Given the description of an element on the screen output the (x, y) to click on. 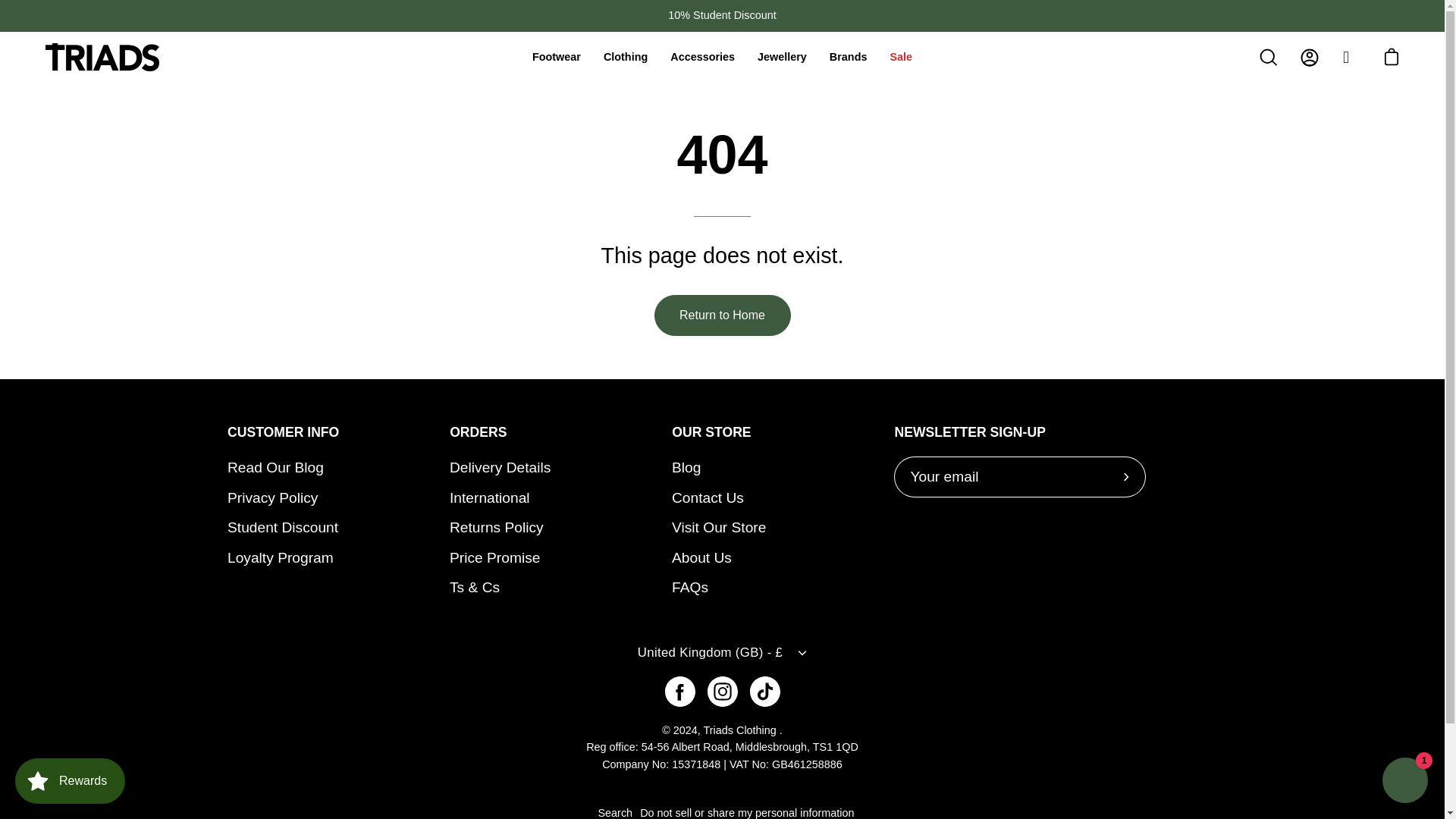
View Triads Clothing  on Instagram (721, 691)
View Triads Clothing  on Tiktok (763, 691)
Shopify online store chat (1404, 781)
View Triads Clothing  on Facebook (678, 691)
